Given the description of an element on the screen output the (x, y) to click on. 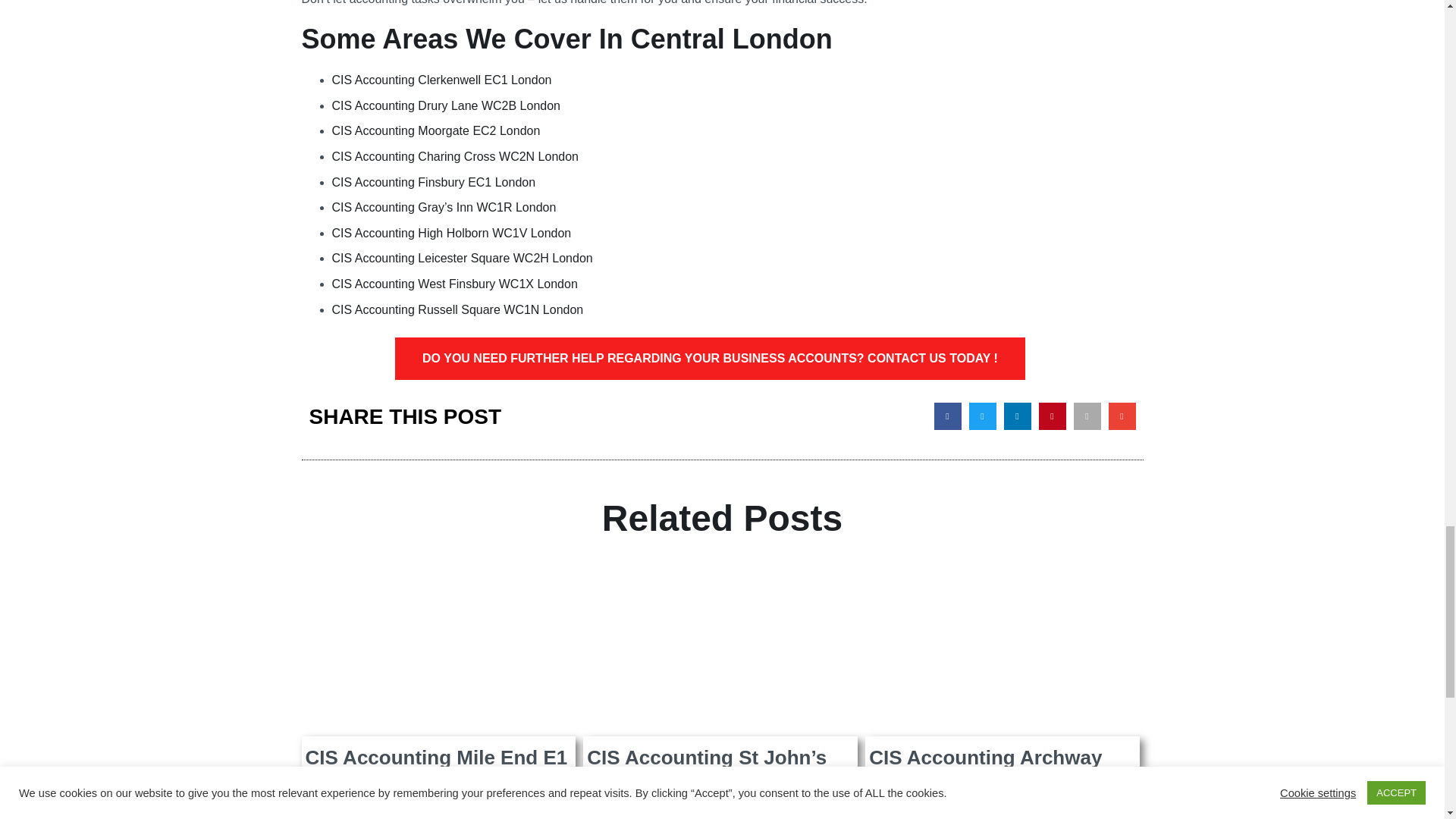
CIS Accounting Moorgate EC2 London (435, 130)
CIS Accounting Charing Cross WC2N London (455, 155)
CIS Accounting West Finsbury WC1X London (454, 283)
CIS Accounting Drury Lane WC2B London (445, 105)
CIS Accounting Finsbury EC1 London (433, 182)
CIS Accounting Clerkenwell EC1 London (441, 79)
CIS Accounting Russell Square WC1N London (457, 309)
CIS Accounting High Holborn WC1V London (451, 232)
CIS Accounting Leicester Square WC2H London (461, 257)
